Given the description of an element on the screen output the (x, y) to click on. 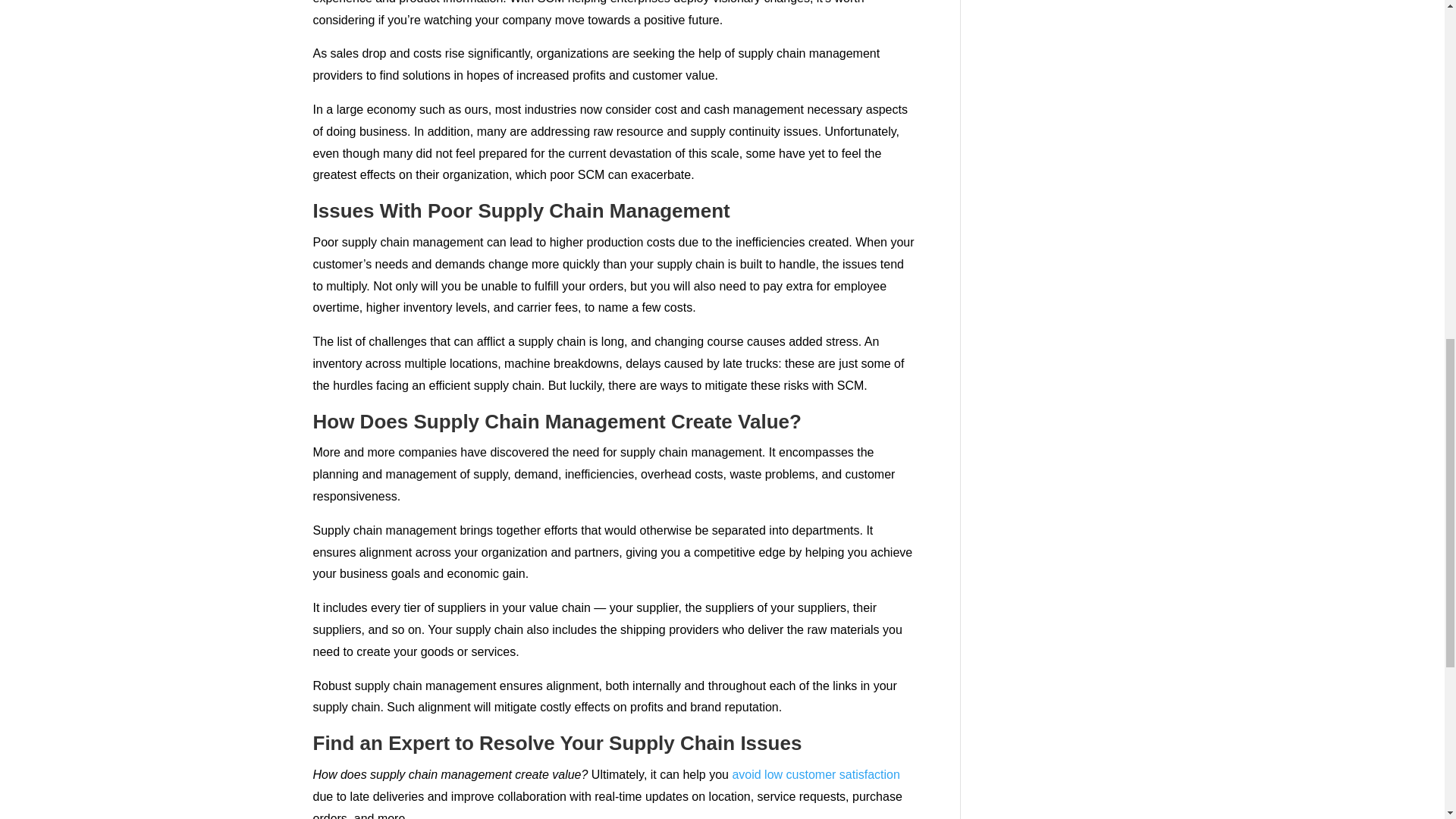
avoid low customer satisfaction (815, 774)
